Given the description of an element on the screen output the (x, y) to click on. 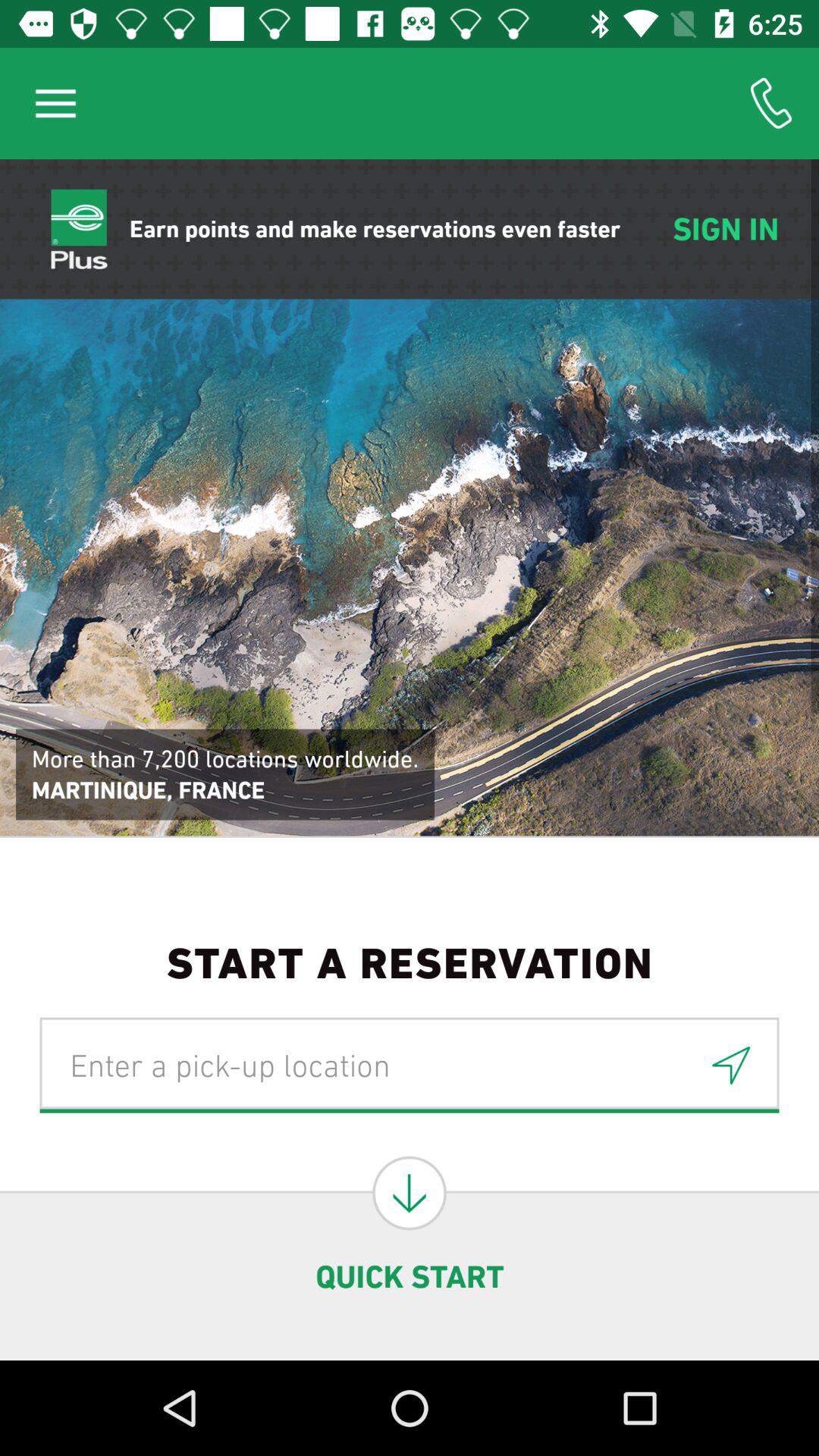
enter location (337, 1065)
